Given the description of an element on the screen output the (x, y) to click on. 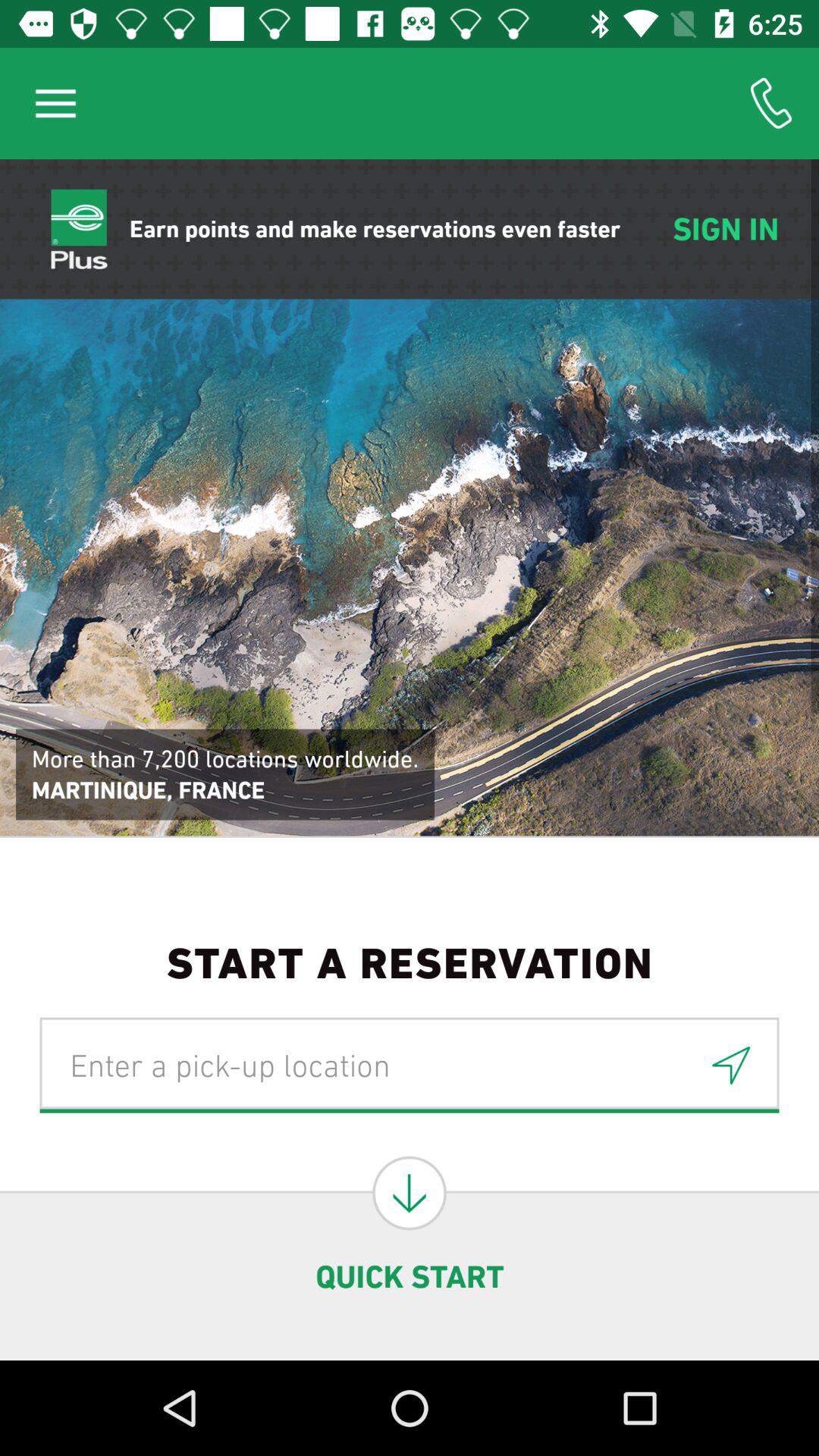
enter location (337, 1065)
